Given the description of an element on the screen output the (x, y) to click on. 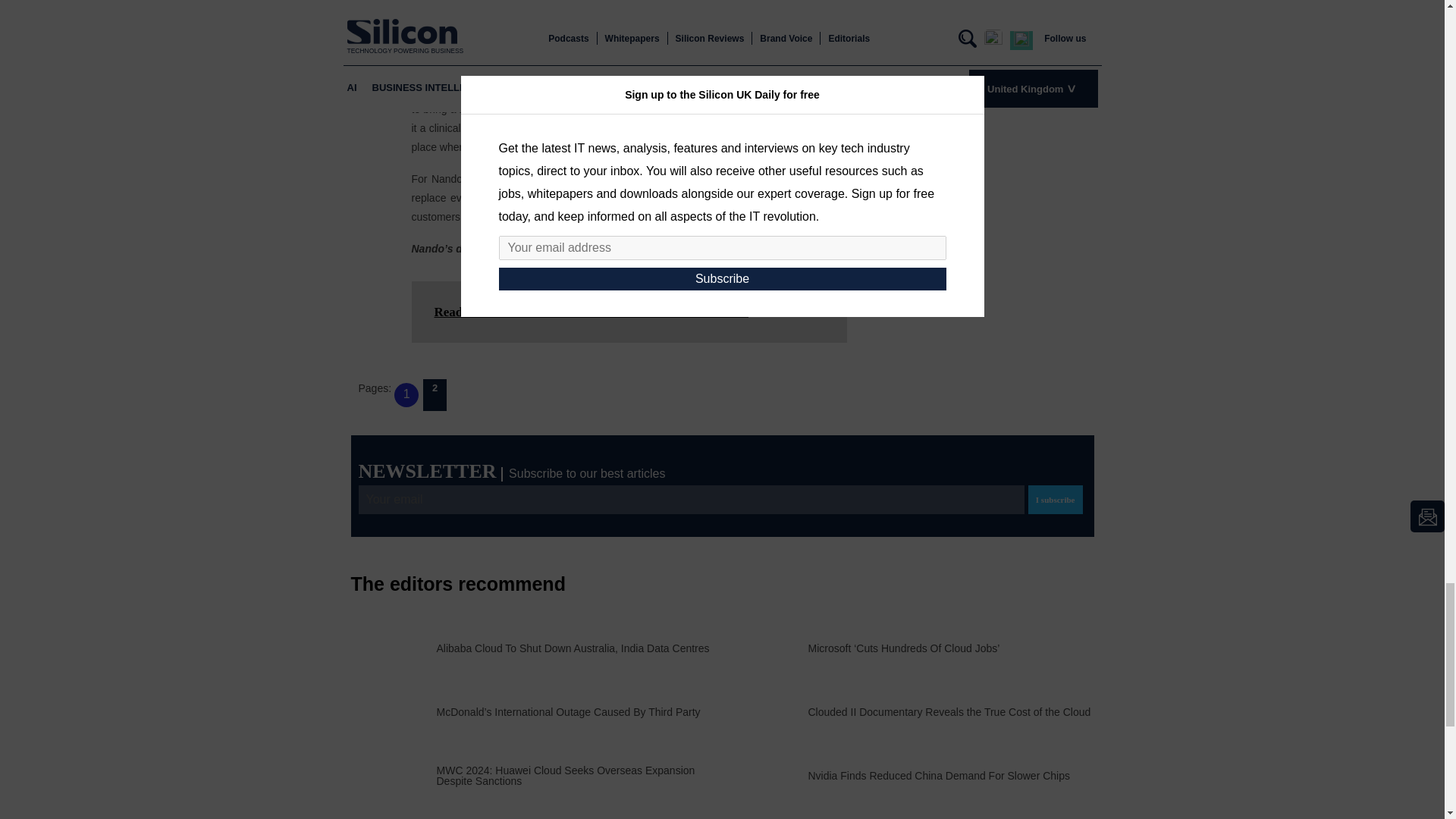
Alibaba Cloud To Shut Down Australia, India Data Centres (573, 647)
Clouded II Documentary Reveals the True Cost of the Cloud (949, 711)
Nvidia Finds Reduced China Demand For Slower Chips (939, 775)
